Given the description of an element on the screen output the (x, y) to click on. 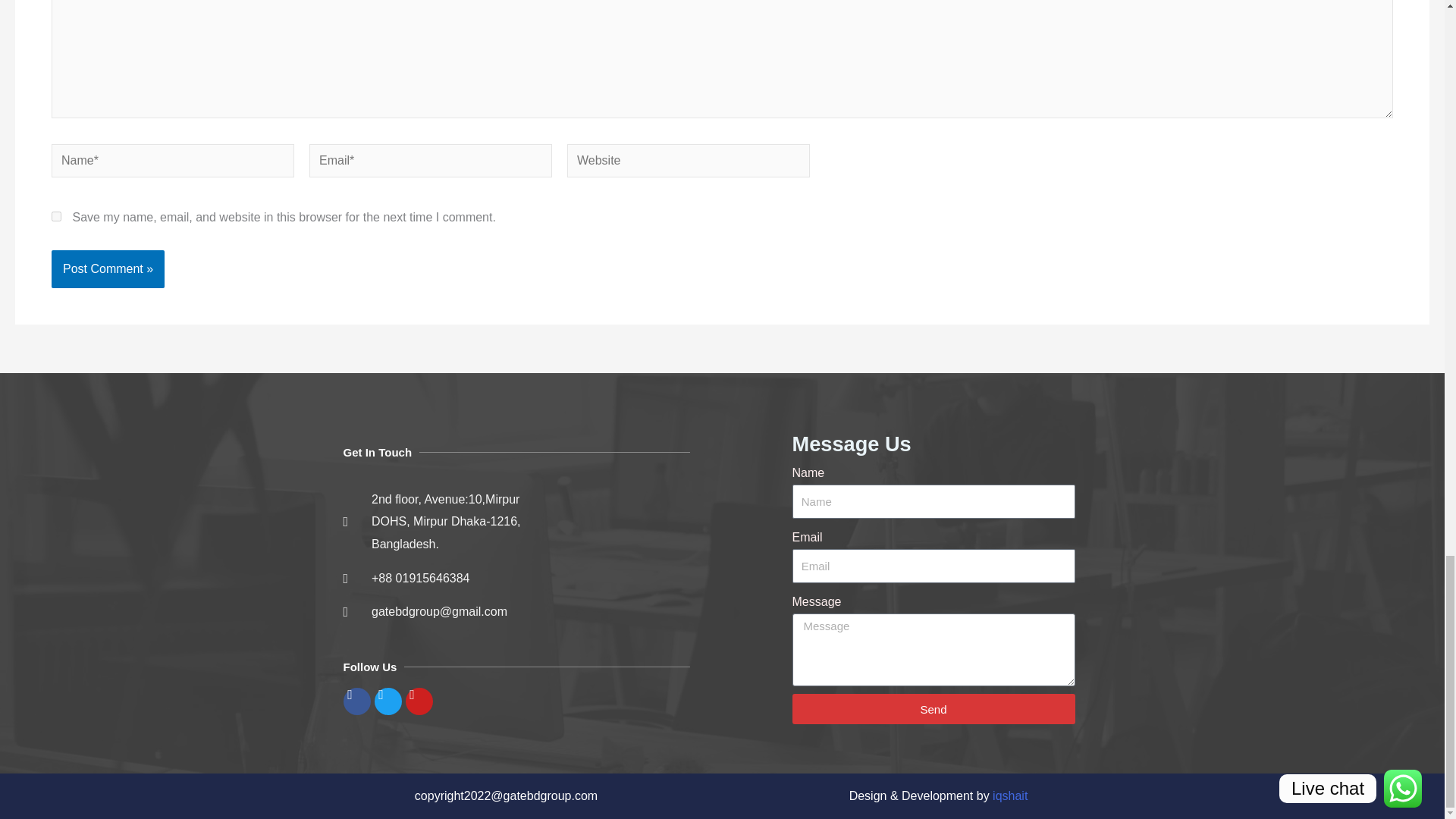
iqshait (1009, 795)
Send (933, 708)
yes (55, 216)
